Given the description of an element on the screen output the (x, y) to click on. 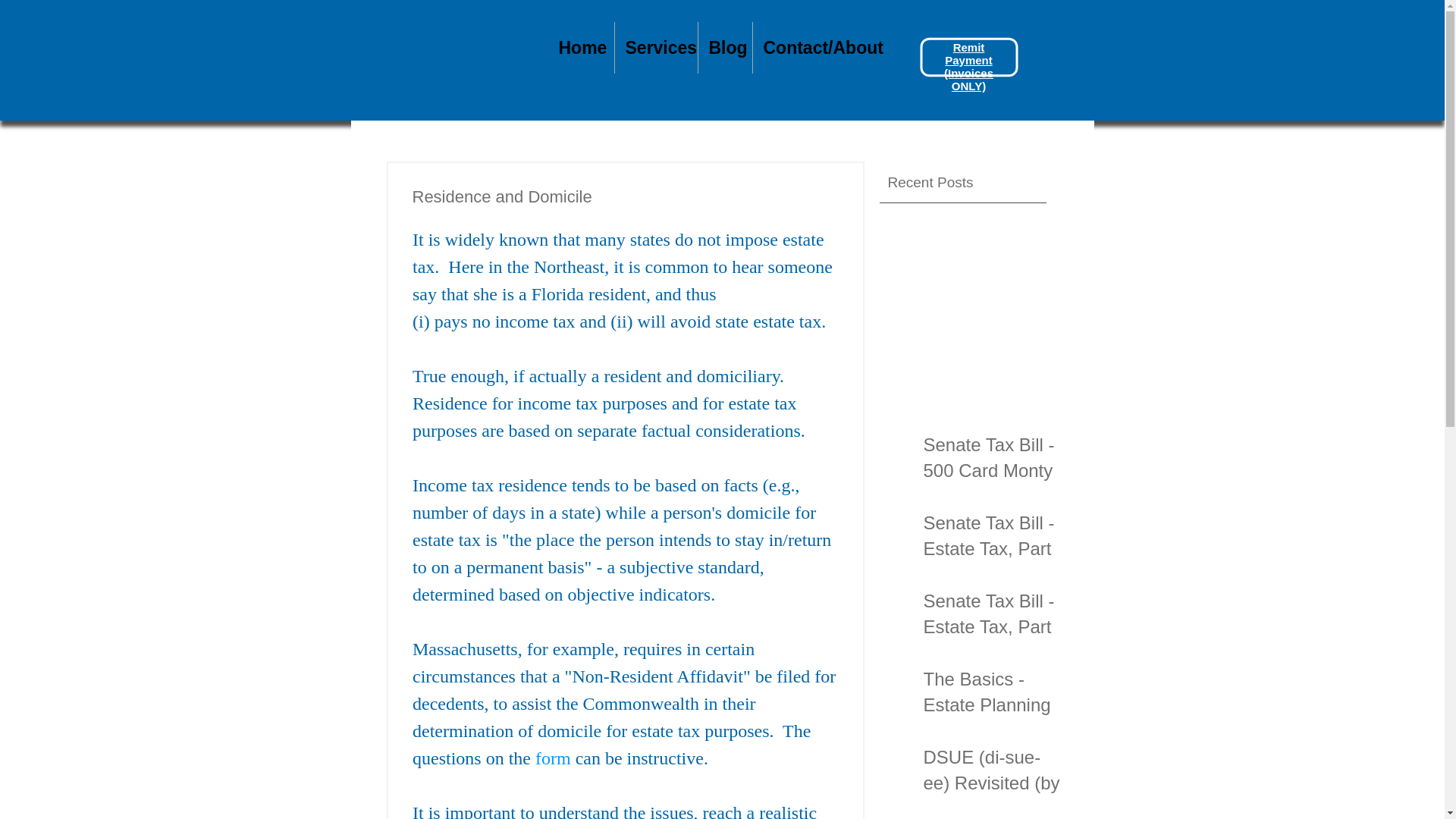
form (552, 758)
Home (579, 47)
Blog (724, 47)
The Basics - Estate Planning (992, 694)
